Given the description of an element on the screen output the (x, y) to click on. 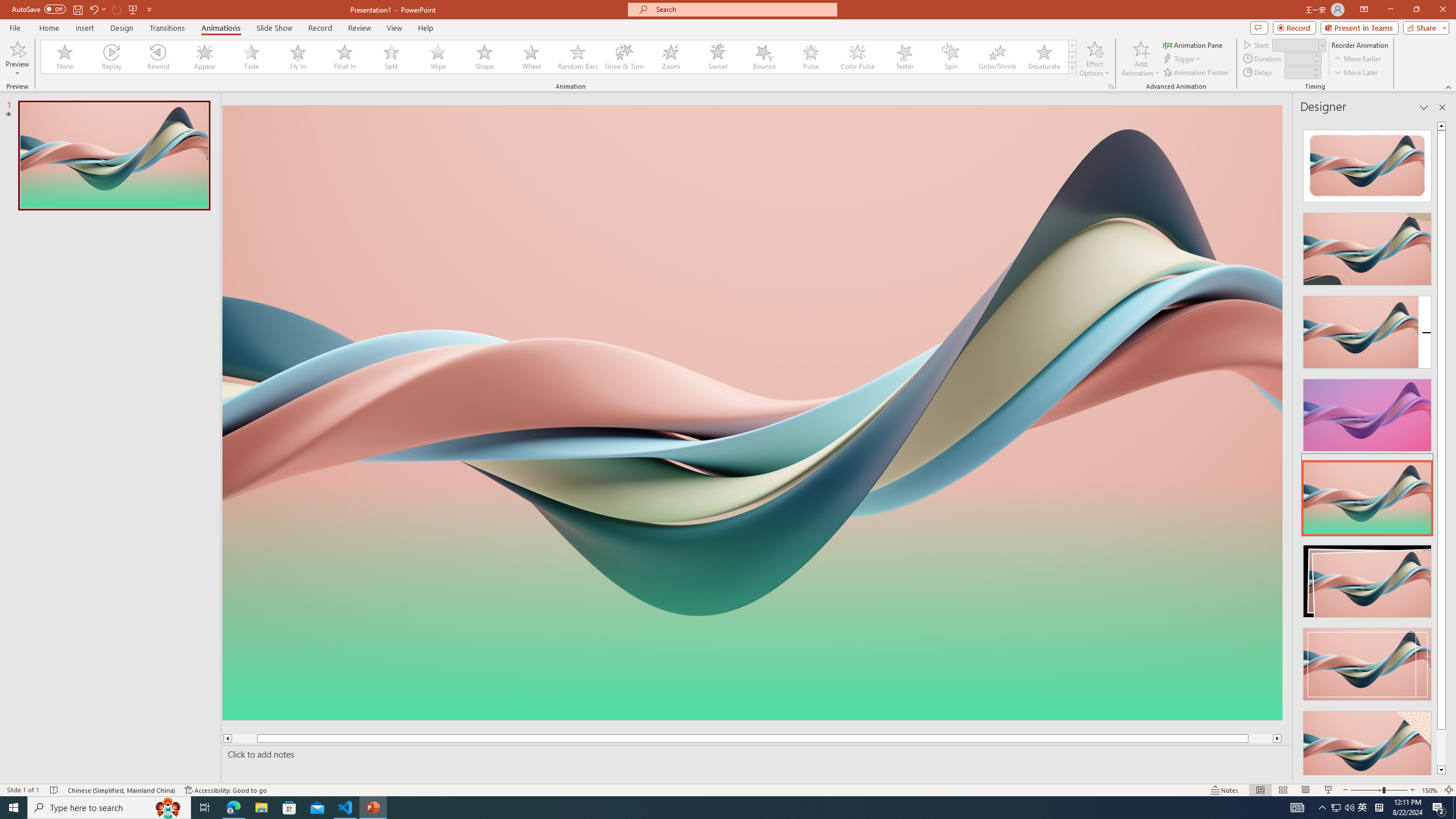
Fly In (298, 56)
Color Pulse (857, 56)
AutoSave (38, 9)
Present in Teams (1359, 27)
Desaturate (1043, 56)
Move Later (1355, 72)
Split (391, 56)
Open (1321, 44)
Comments (1259, 27)
Accessibility Checker Accessibility: Good to go (226, 790)
Share (1423, 27)
Close (1442, 9)
Swivel (717, 56)
From Beginning (133, 9)
Save (77, 9)
